Given the description of an element on the screen output the (x, y) to click on. 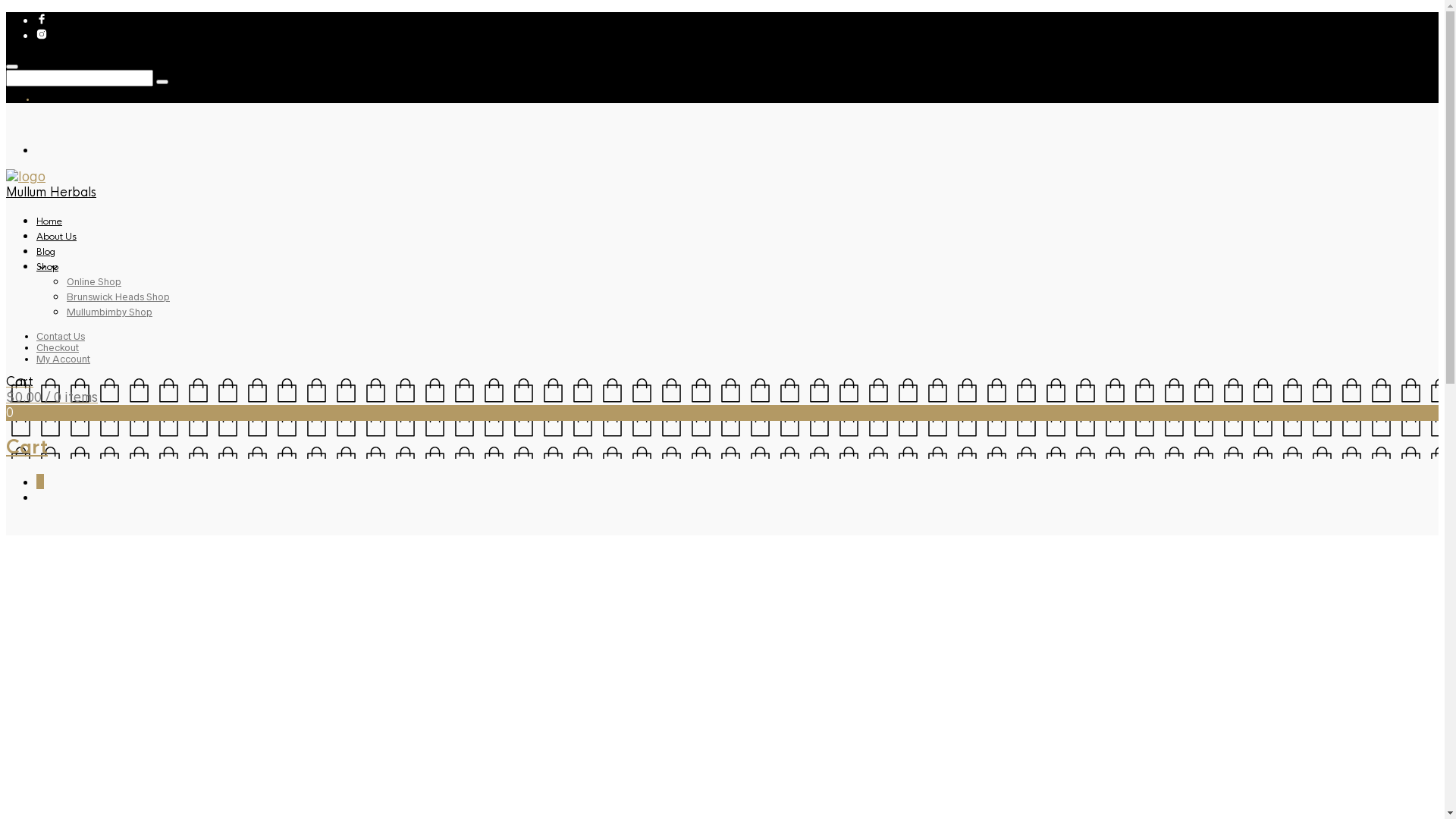
Contact Us Element type: text (60, 336)
Checkout Element type: text (57, 347)
Brunswick Heads Shop Element type: text (117, 296)
0 Element type: text (39, 481)
Home Element type: text (49, 221)
Shop Element type: text (47, 266)
My Account Element type: text (63, 358)
Mullumbimby Shop Element type: text (109, 311)
Online Shop Element type: text (93, 281)
Mullum Herbals Element type: text (51, 192)
Cart
$0.00 / 0 items
0
Cart Element type: text (722, 415)
Blog Element type: text (45, 251)
About Us Element type: text (56, 236)
